Given the description of an element on the screen output the (x, y) to click on. 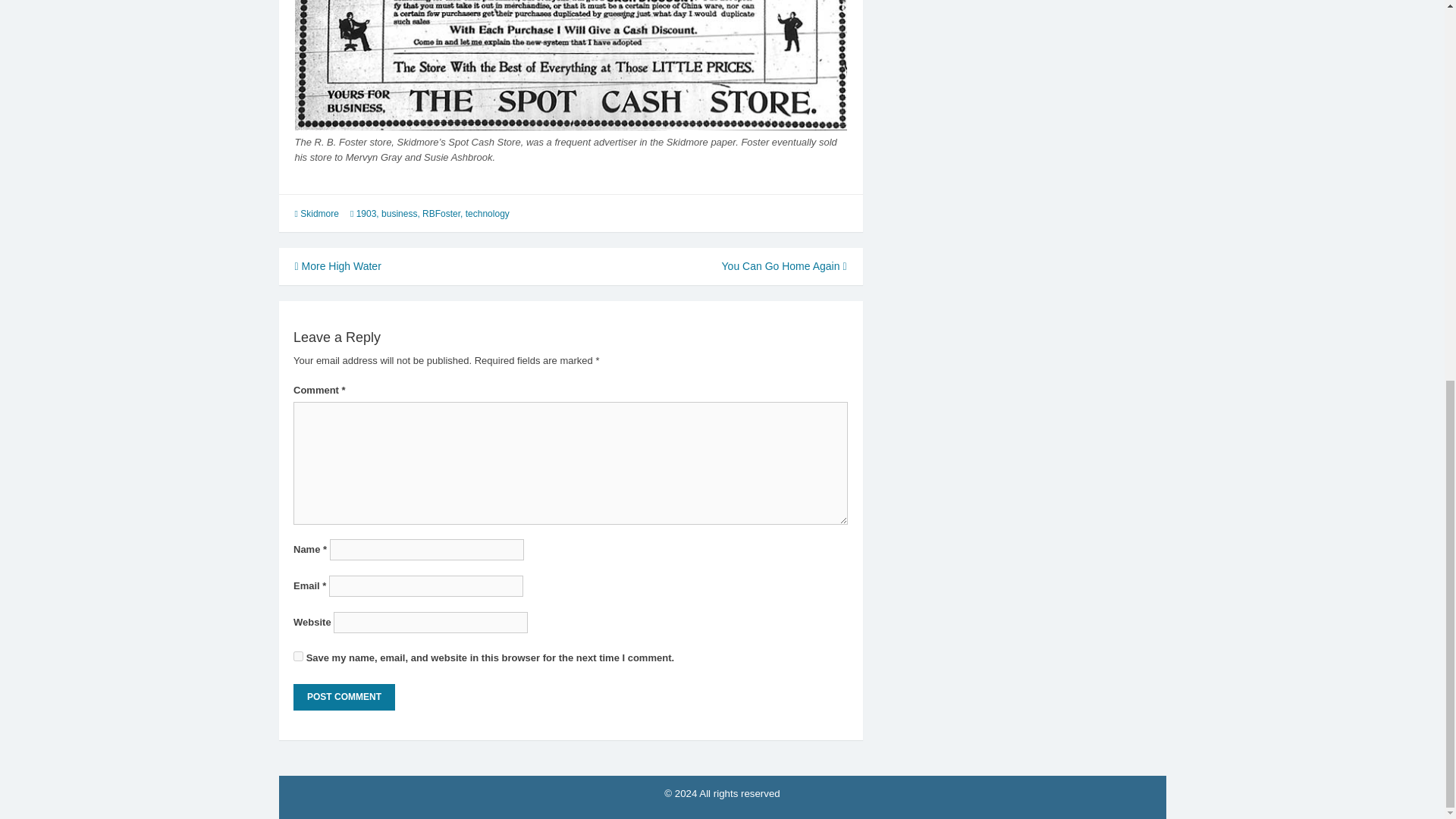
Skidmore (319, 213)
1903 (366, 213)
RBFoster (441, 213)
You Can Go Home Again (784, 265)
More High Water (337, 265)
yes (298, 655)
business (398, 213)
Post Comment (344, 696)
technology (487, 213)
Post Comment (344, 696)
